Given the description of an element on the screen output the (x, y) to click on. 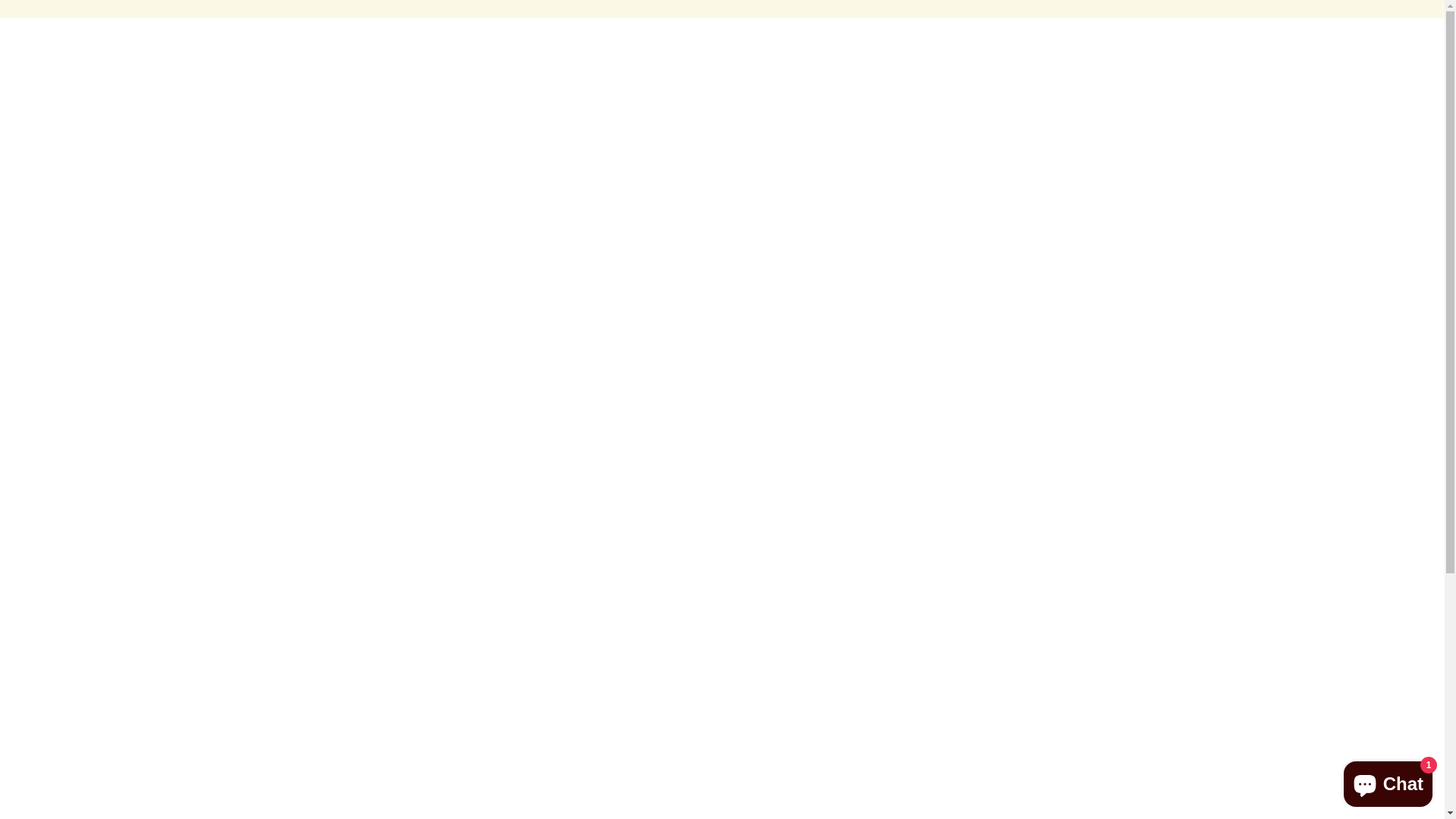
Speak To Us About Wholesale Element type: text (821, 116)
Terms of Service Element type: text (556, 611)
Contact Us Element type: text (1350, 42)
Ingredients & Allergens Element type: text (998, 116)
Refund policy Element type: text (548, 630)
Cremorne Street Bakers Element type: hover (1040, 743)
Specialty Cakes Element type: text (911, 75)
About Us Element type: text (537, 593)
Wheat-free & Vegan Element type: text (1149, 116)
RETURN TO HOME! Element type: text (722, 411)
Contact Us Element type: text (1359, 116)
Shop Whole Cakes Element type: text (591, 75)
Shop Cake Toppers & Candles Element type: text (625, 116)
About Us Element type: text (1265, 116)
03 9428 8341 Element type: text (793, 793)
Shopify online store chat Element type: hover (1388, 780)
Log in Element type: text (1308, 157)
Shop Catering Petites Element type: text (1193, 75)
Shop Smaller Treats Element type: text (1045, 75)
Pre Order Christmas 23 Now Element type: text (755, 75)
Cart
0 Element type: text (1377, 157)
Shop Gift Hampers Element type: text (1338, 75)
